Given the description of an element on the screen output the (x, y) to click on. 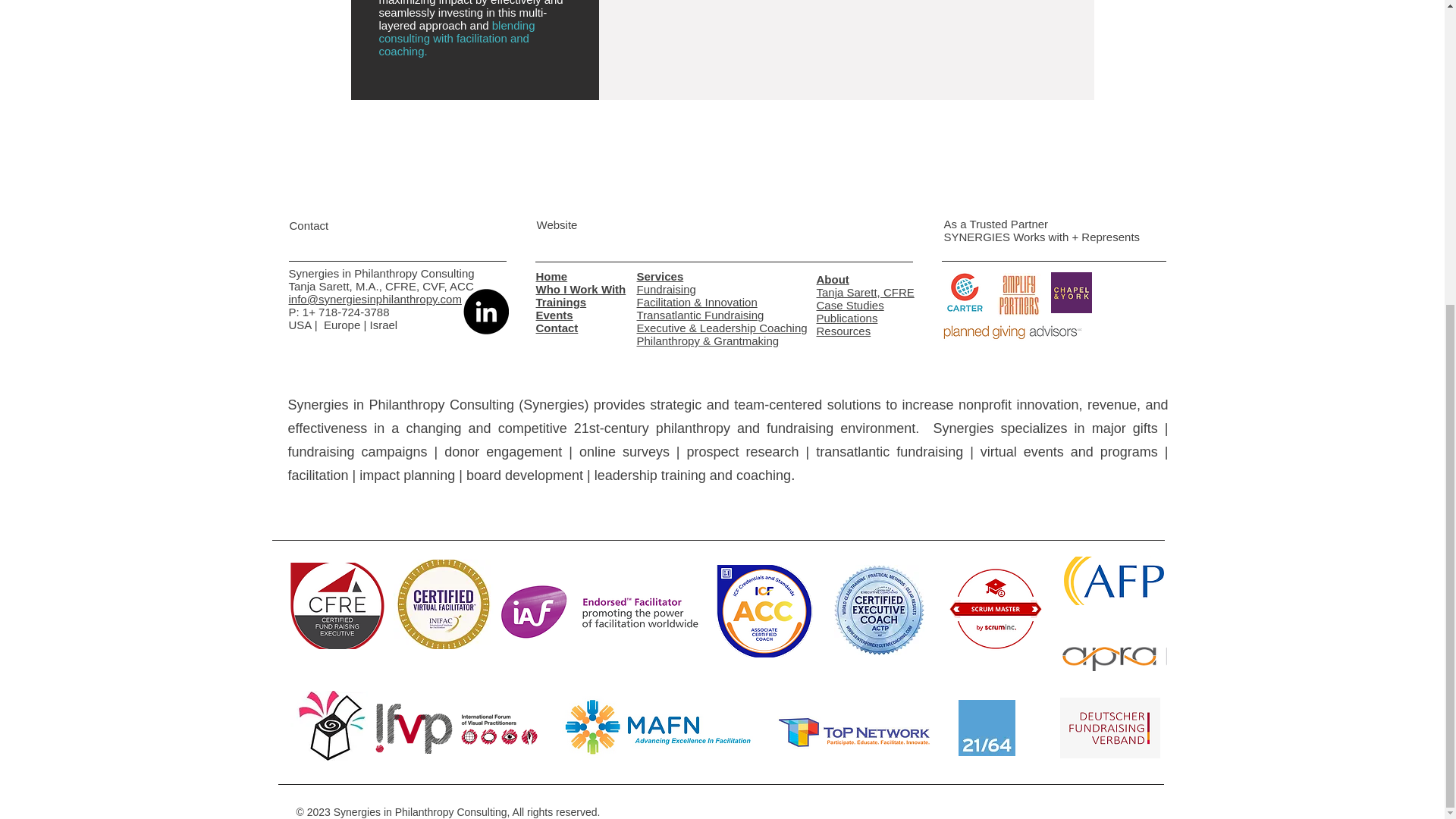
Home (551, 276)
Fundraising (666, 288)
Trainings (560, 301)
Contact (556, 327)
Who I Work With (580, 288)
Services (660, 276)
Events (553, 314)
Transatlantic Fundraising (700, 314)
